Given the description of an element on the screen output the (x, y) to click on. 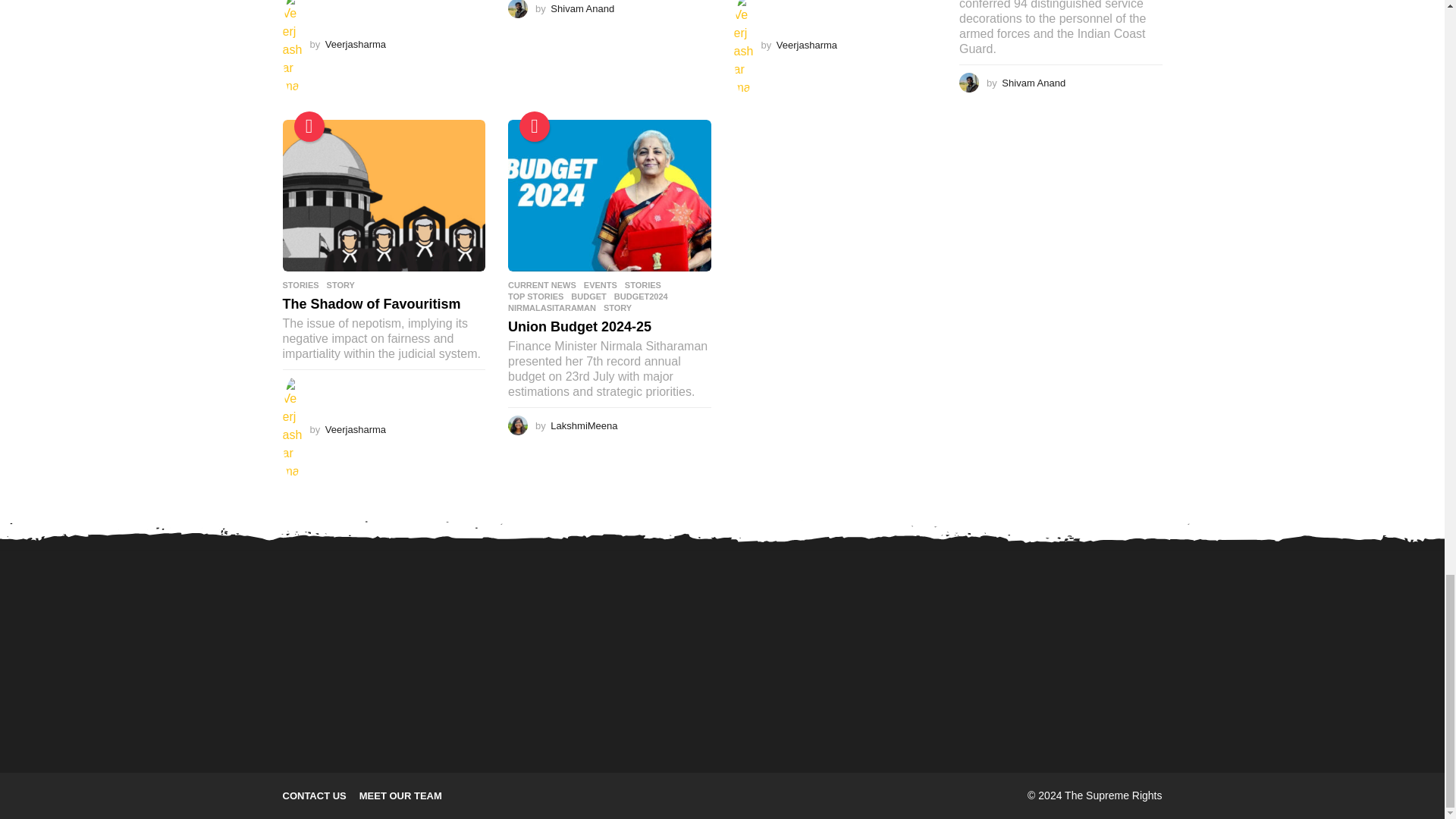
Popular (534, 126)
Union Budget 2024-25 (609, 195)
Hot (309, 126)
The Shadow of Favouritism (383, 195)
